Given the description of an element on the screen output the (x, y) to click on. 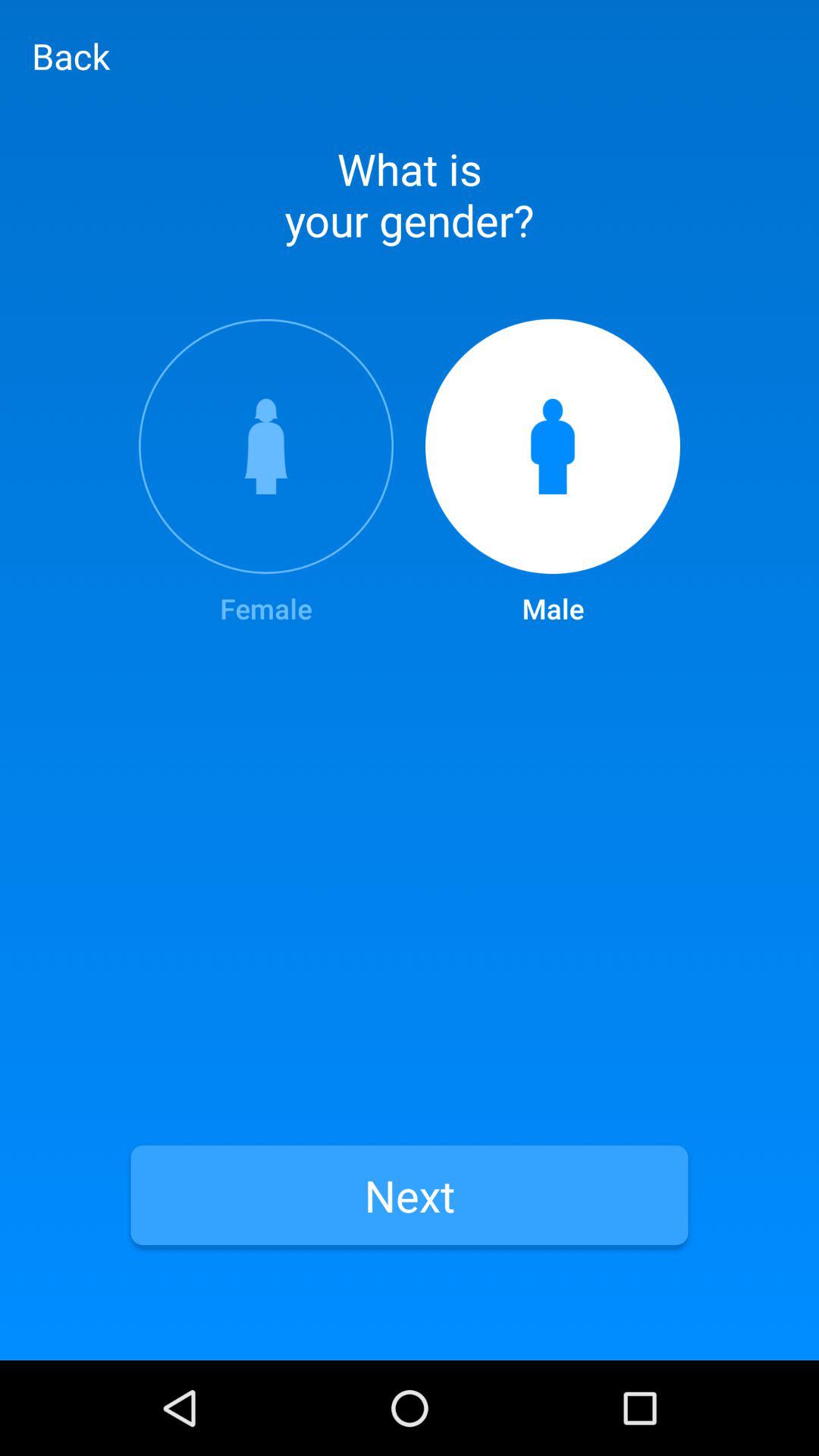
open icon to the right of female item (552, 473)
